Given the description of an element on the screen output the (x, y) to click on. 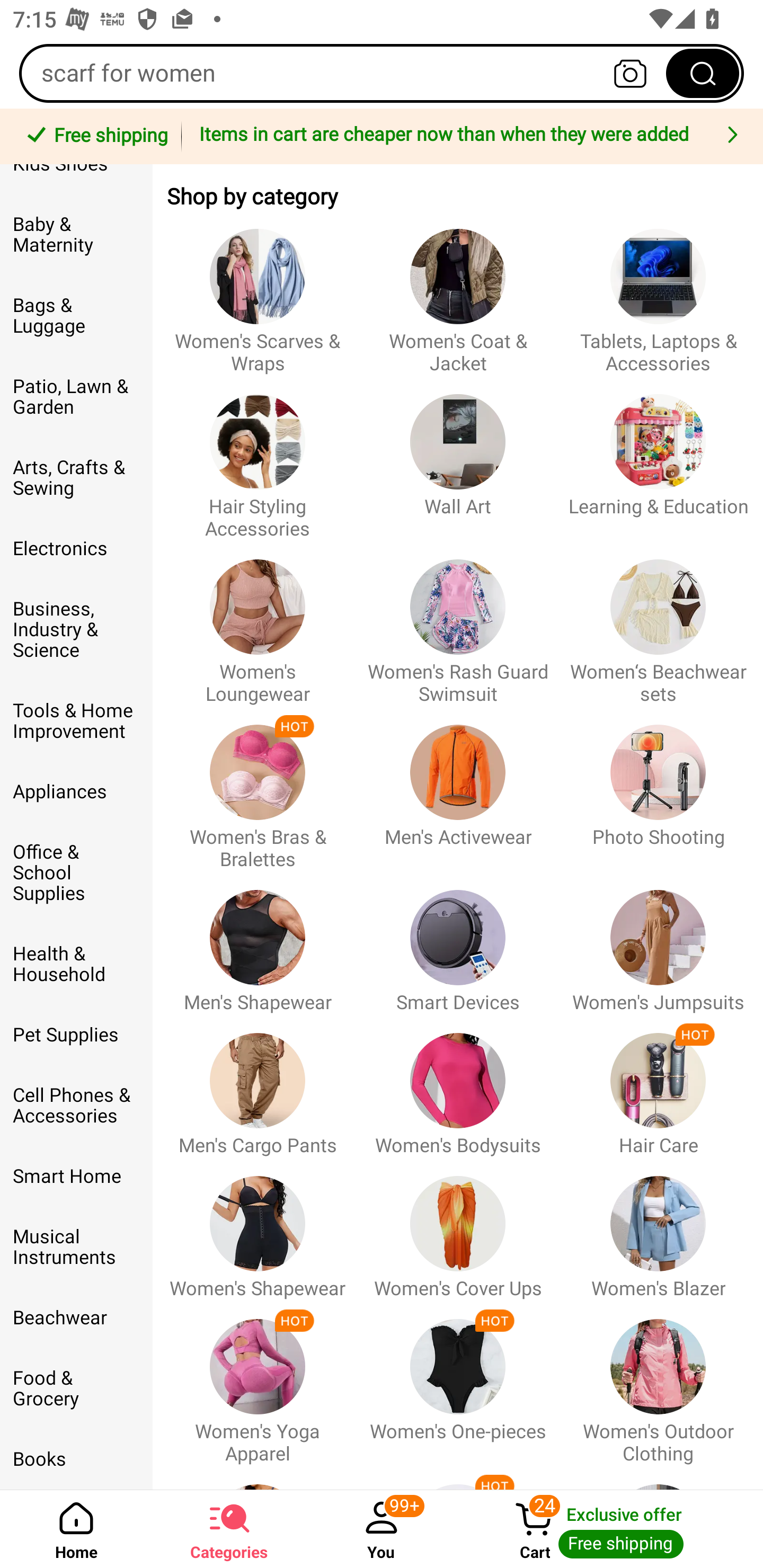
scarf for women (381, 73)
 Free shipping (93, 136)
Baby & Maternity (76, 234)
Women's Scarves & Wraps (257, 292)
Women's Coat & Jacket (457, 292)
Tablets, Laptops & Accessories (657, 292)
Bags & Luggage (76, 315)
Patio, Lawn & Garden (76, 396)
Hair Styling Accessories (257, 457)
Wall Art (457, 457)
Learning & Education (657, 457)
Arts, Crafts & Sewing (76, 478)
Electronics (76, 548)
Women's Loungewear (257, 622)
Women's Rash Guard Swimsuit (457, 622)
Women‘s Beachwear sets (657, 622)
Business, Industry & Science (76, 629)
Tools & Home Improvement (76, 721)
Women's Bras & Bralettes (257, 787)
Men's Activewear (457, 787)
Photo Shooting (657, 787)
Appliances (76, 791)
Office & School Supplies (76, 872)
Men's Shapewear (257, 942)
Smart Devices (457, 942)
Women's Jumpsuits (657, 942)
Health & Household (76, 964)
Pet Supplies (76, 1034)
Men's Cargo Pants (257, 1085)
Women's Bodysuits (457, 1085)
Hair Care (657, 1085)
Cell Phones & Accessories (76, 1105)
Smart Home (76, 1176)
Women's Shapewear (257, 1228)
Women's Cover Ups (457, 1228)
Women's Blazer (657, 1228)
Musical Instruments (76, 1247)
Beachwear (76, 1317)
Women's Yoga Apparel (257, 1381)
Women's One-pieces (457, 1381)
Women's Outdoor Clothing (657, 1381)
Food & Grocery (76, 1388)
Books (76, 1458)
Home (76, 1528)
Categories (228, 1528)
You ‎99+‎ You (381, 1528)
Cart 24 Cart Exclusive offer (610, 1528)
